Given the description of an element on the screen output the (x, y) to click on. 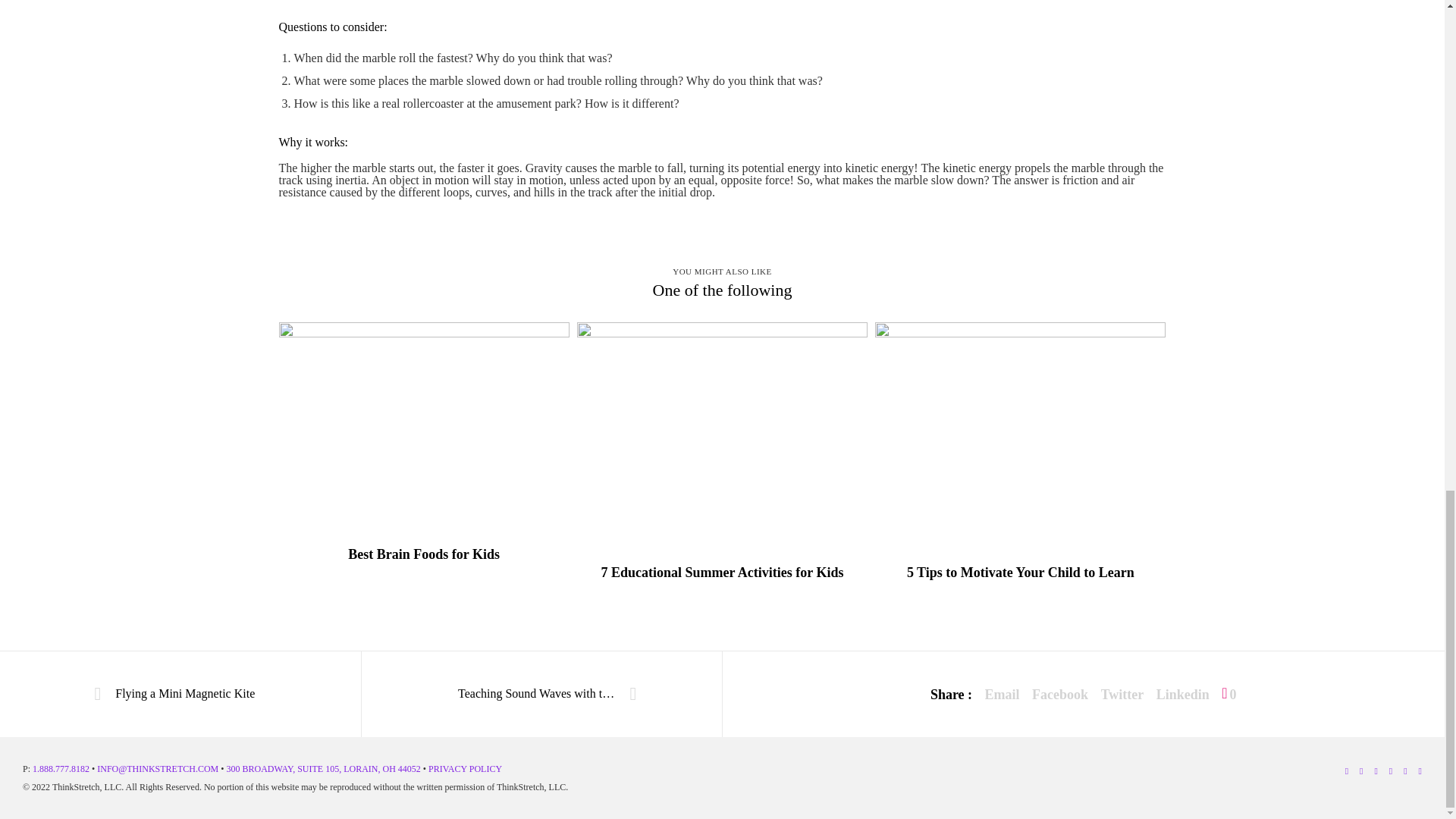
PRIVACY POLICY (465, 768)
Building STEM Marble Roller Coasters (1122, 694)
Linkedin (1182, 694)
Best Brain Foods for Kids (424, 554)
Twitter (1122, 694)
Teaching Sound Waves with the Tin Can Telephone (541, 694)
Flying a Mini Magnetic Kite (180, 694)
Building STEM Marble Roller Coasters (1002, 694)
7 Educational Summer Activities for Kids (721, 572)
300 BROADWAY, SUITE 105, LORAIN, OH 44052 (322, 768)
